Given the description of an element on the screen output the (x, y) to click on. 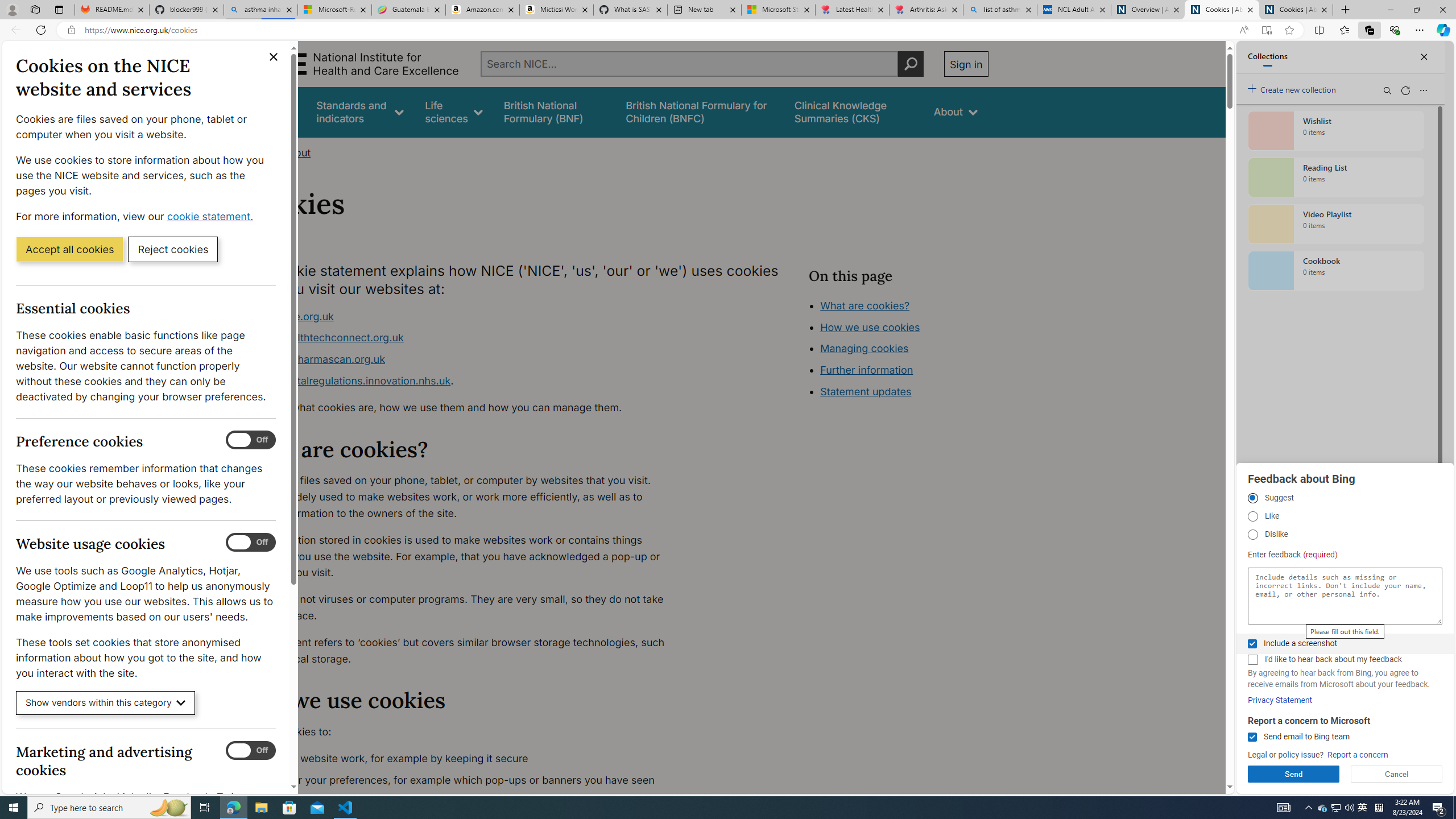
Minimize (1390, 9)
Dislike (1252, 534)
Report a concern (1358, 755)
false (853, 111)
www.healthtechconnect.org.uk (464, 338)
Home> (258, 152)
Accept all cookies (69, 248)
Cookies | About | NICE (1295, 9)
Read aloud this page (Ctrl+Shift+U) (1243, 29)
British National Formulary for Children (BNFC) (699, 111)
How we use cookies (909, 389)
Add this page to favorites (Ctrl+D) (1289, 29)
Like (1252, 516)
